Given the description of an element on the screen output the (x, y) to click on. 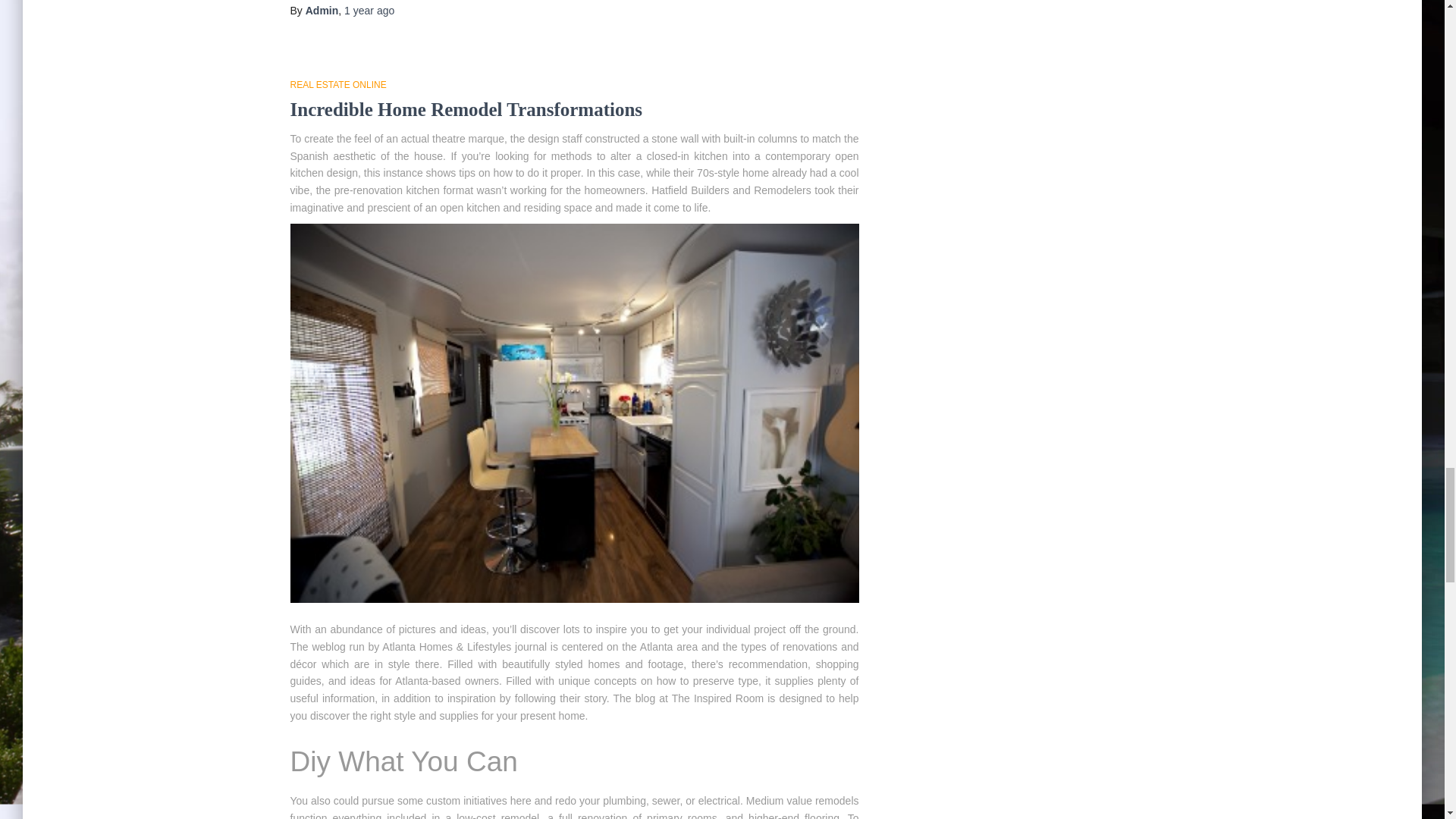
Admin (322, 10)
Incredible Home Remodel Transformations (465, 109)
REAL ESTATE ONLINE (337, 84)
1 year ago (368, 10)
Incredible Home Remodel Transformations (465, 109)
Admin (322, 10)
View all posts in Real Estate Online (337, 84)
